Given the description of an element on the screen output the (x, y) to click on. 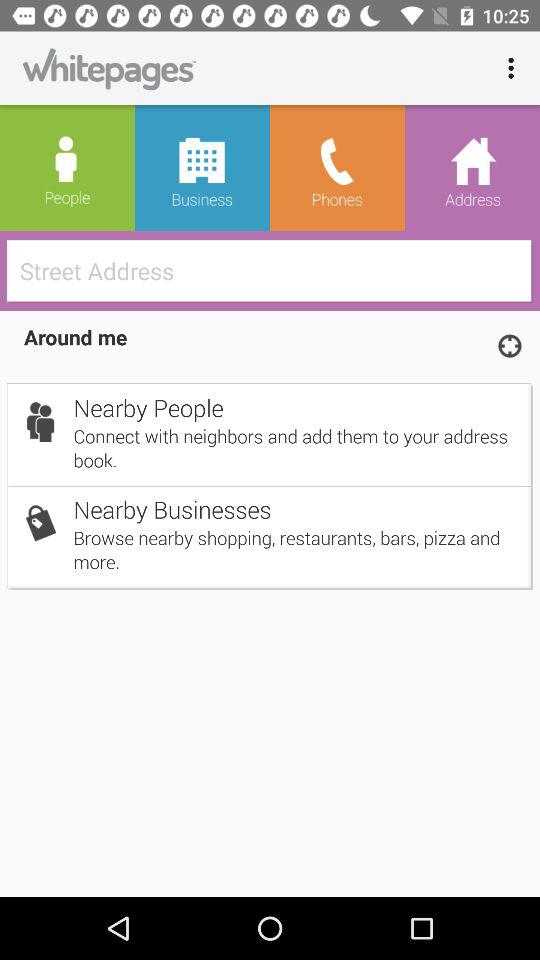
click item above nearby people item (509, 345)
